Given the description of an element on the screen output the (x, y) to click on. 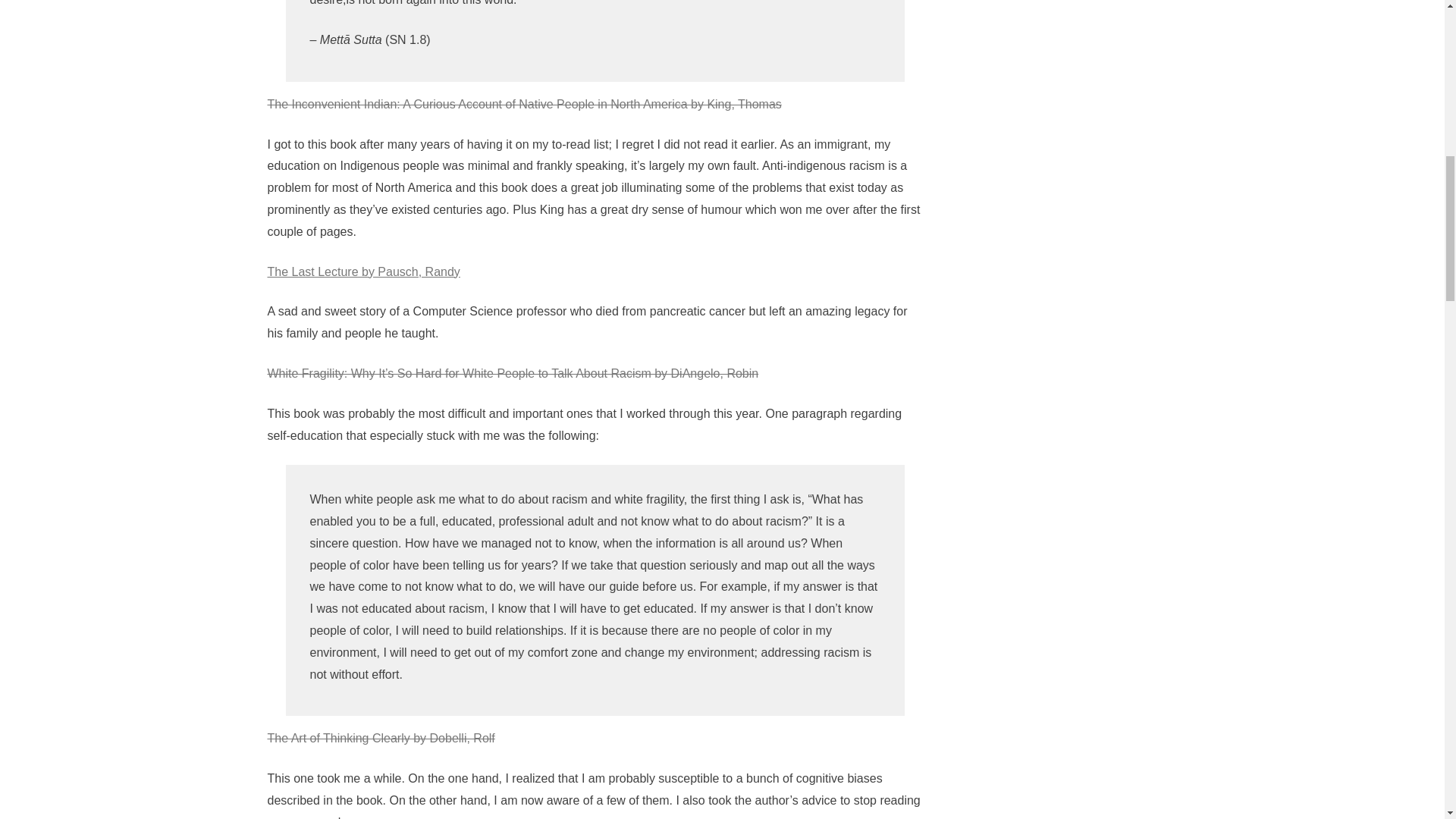
The Art of Thinking Clearly by Dobelli, Rolf (380, 738)
The Last Lecture by Pausch, Randy (363, 271)
